Given the description of an element on the screen output the (x, y) to click on. 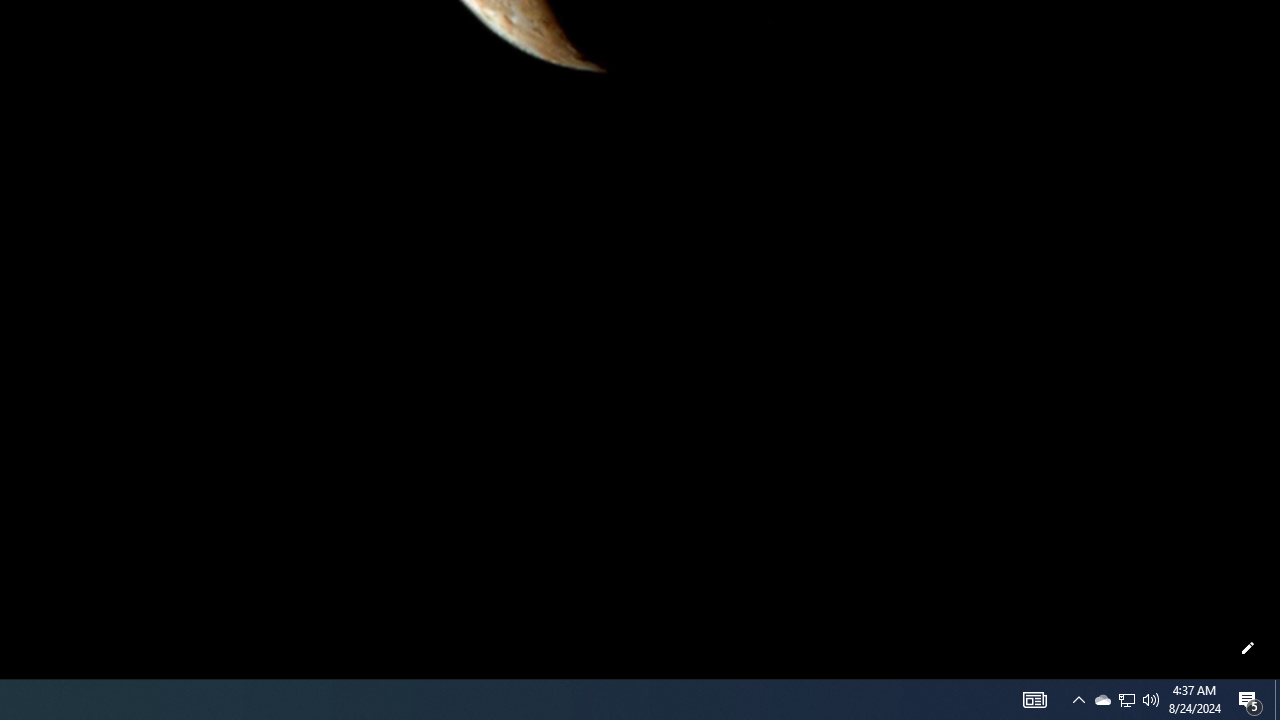
Customize this page (1247, 647)
